Given the description of an element on the screen output the (x, y) to click on. 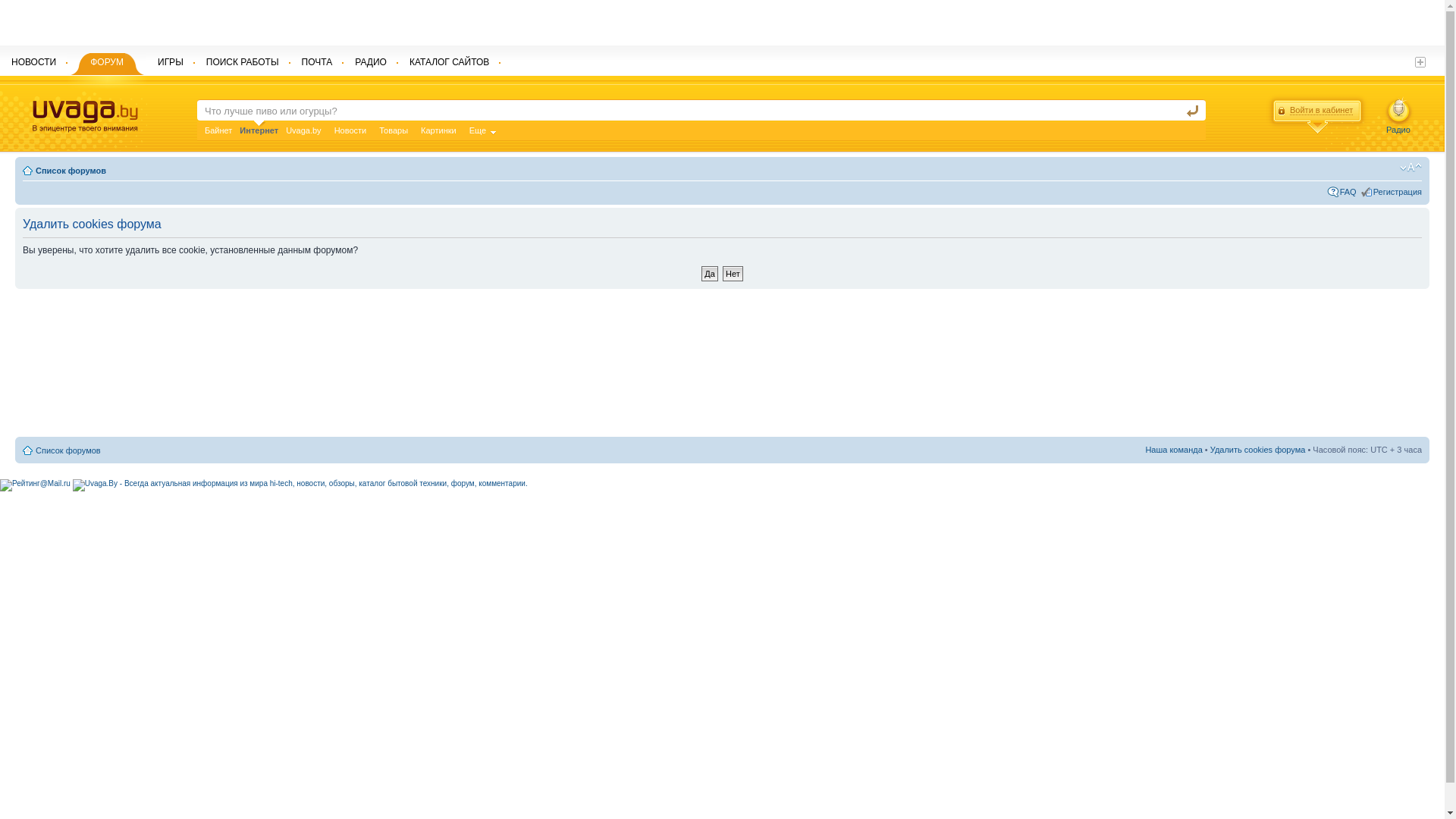
Uvaga.by Element type: text (303, 130)
FAQ Element type: text (1347, 191)
